Given the description of an element on the screen output the (x, y) to click on. 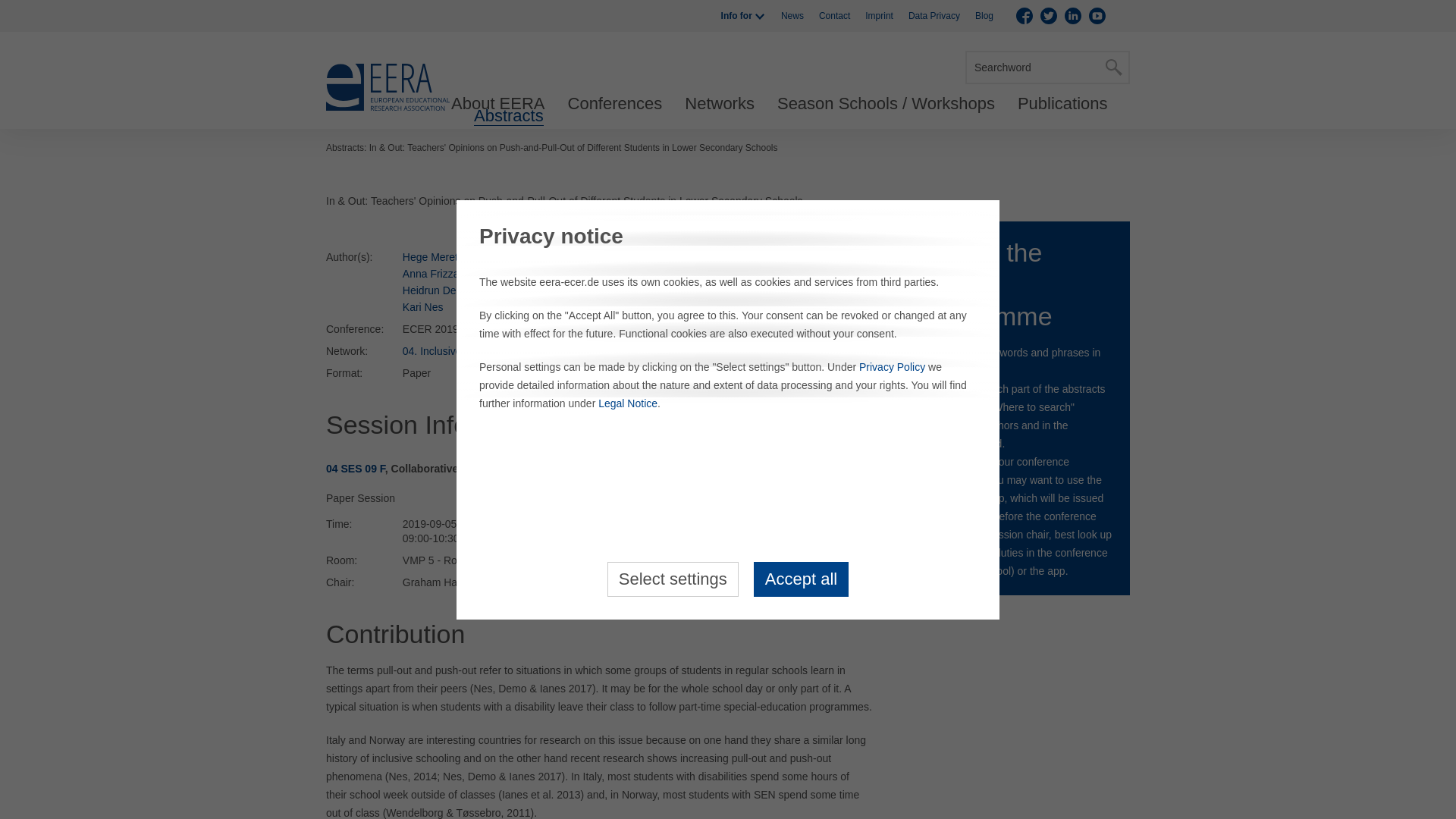
Linkedin (1072, 15)
Info for (743, 15)
Data Privacy (934, 15)
About EERA (497, 103)
News (791, 15)
About EERA (497, 103)
Search (1113, 67)
RSS (1121, 15)
Legal Notice (628, 403)
Legal Notice (628, 403)
Imprint (879, 15)
Facebook (1024, 15)
Search (1113, 67)
Select settings (672, 578)
Blog (984, 15)
